Given the description of an element on the screen output the (x, y) to click on. 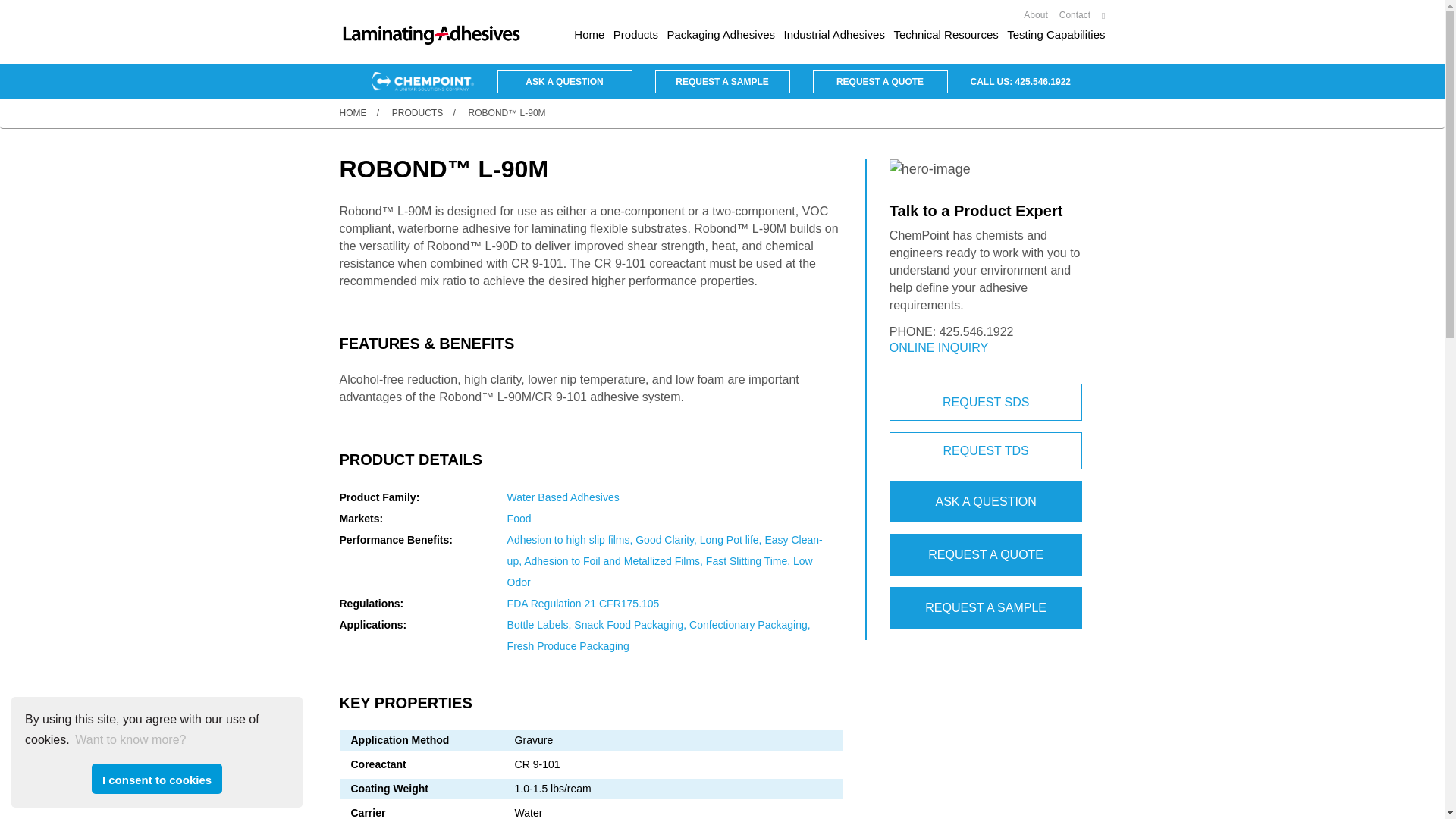
Industrial Adhesives (834, 34)
Bottle Labels, (540, 624)
Packaging Adhesives (720, 34)
REQUEST TDS (986, 450)
REQUEST A QUOTE (986, 554)
HOME (352, 112)
Testing Capabilities (1056, 34)
Fresh Produce Packaging (567, 645)
PRODUCTS (416, 112)
REQUEST A QUOTE (879, 81)
ASK A QUESTION (564, 81)
REQUEST A SAMPLE (986, 607)
Confectionary Packaging, (749, 624)
REQUEST A SAMPLE (722, 81)
FDA Regulation 21 CFR175.105 (582, 603)
